Given the description of an element on the screen output the (x, y) to click on. 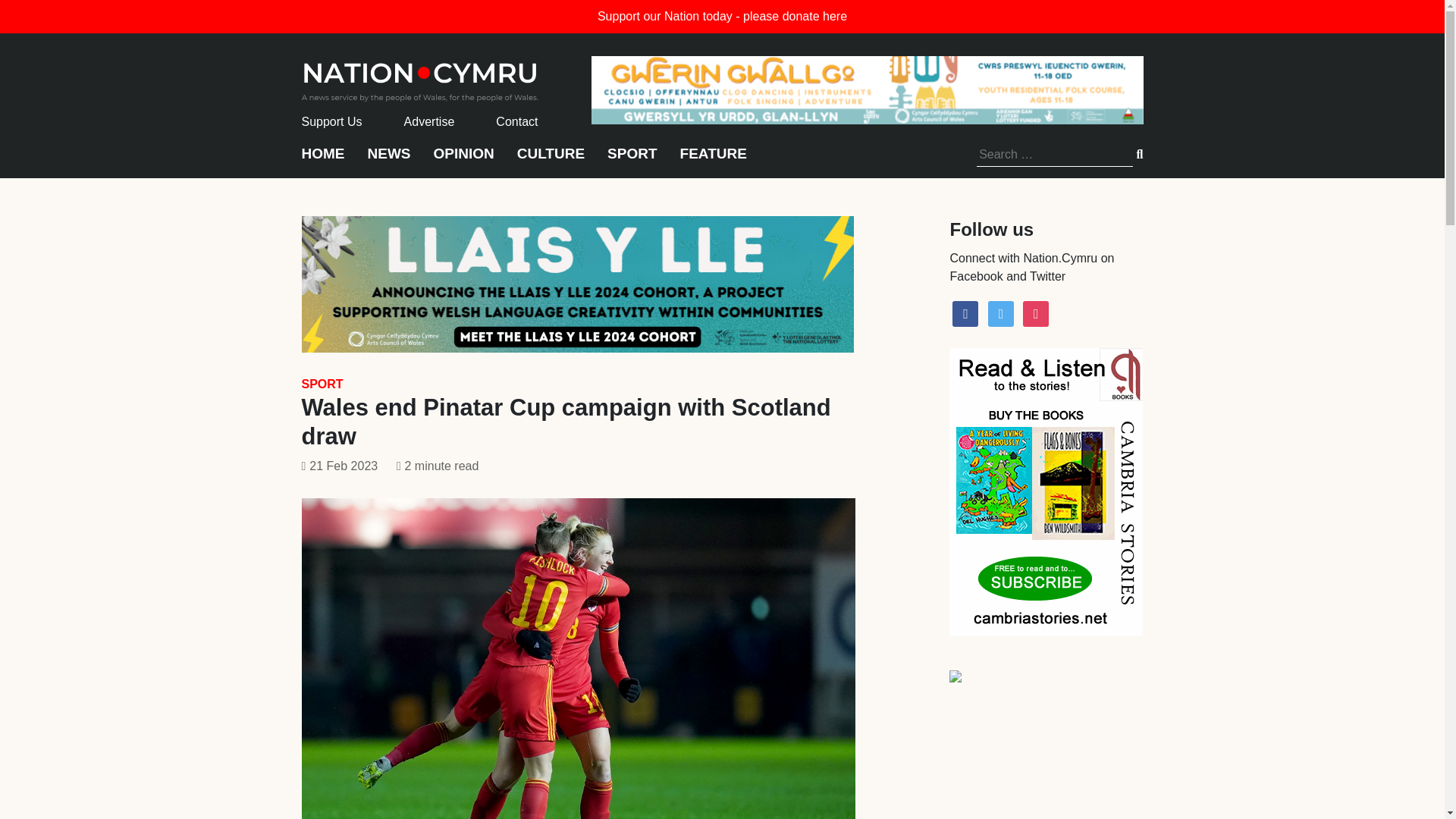
FEATURE (712, 160)
CULTURE (550, 160)
Support Us (331, 121)
Contact (516, 121)
HOME (323, 160)
SPORT (322, 383)
SPORT (631, 160)
NEWS (388, 160)
Advertise (429, 121)
home (419, 77)
